Given the description of an element on the screen output the (x, y) to click on. 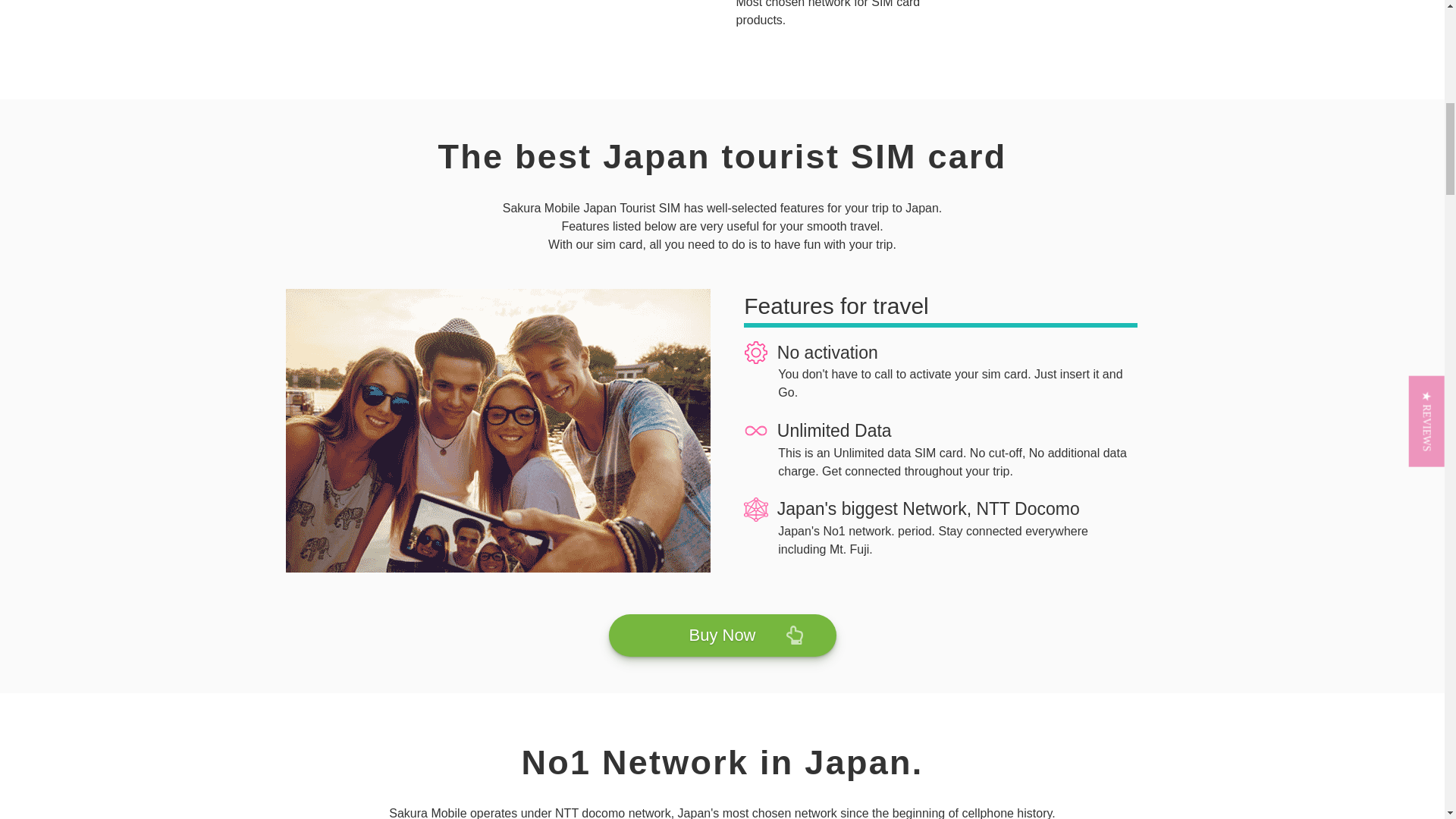
Buy Now (721, 635)
